Given the description of an element on the screen output the (x, y) to click on. 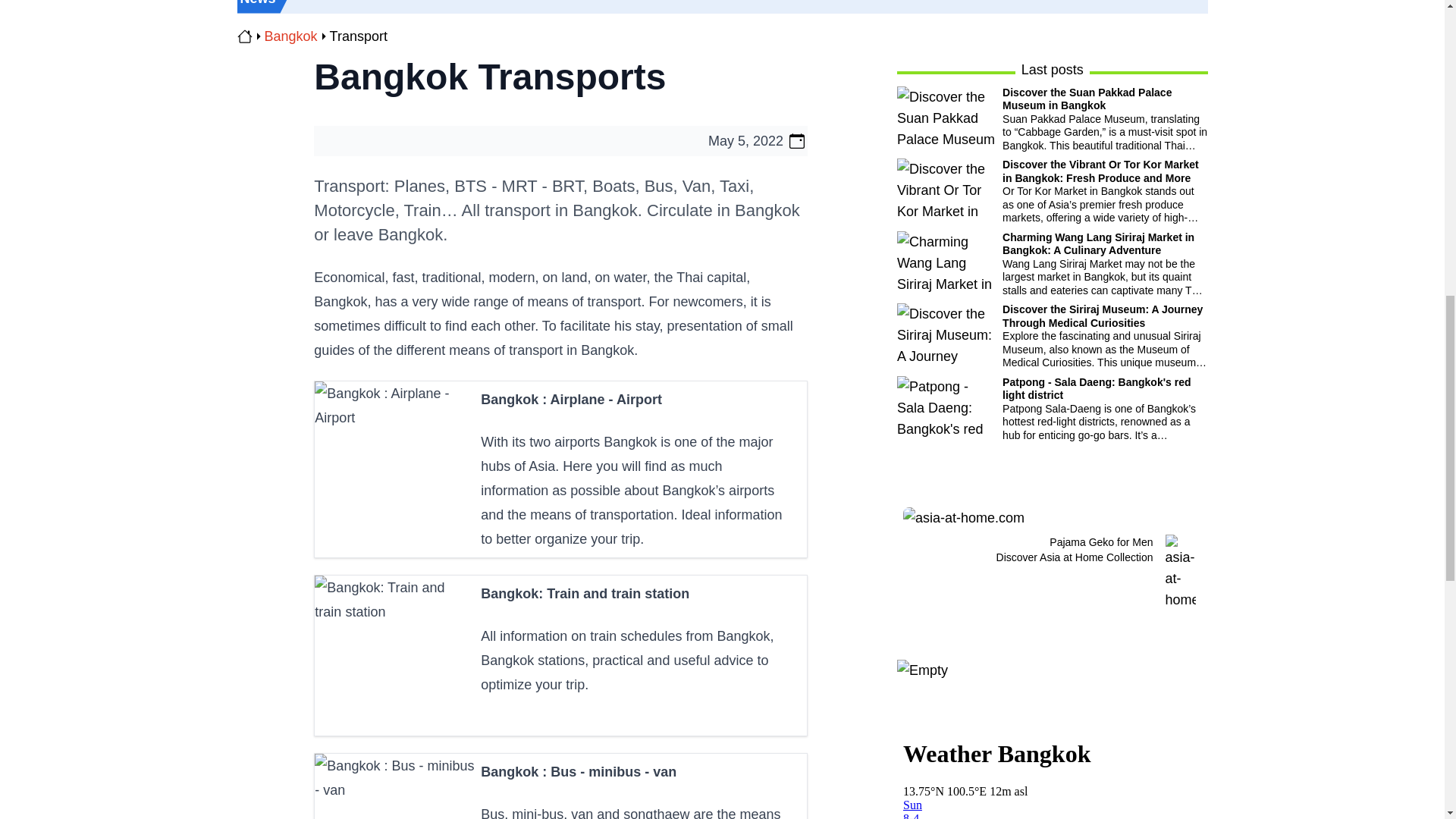
Bangkok (290, 35)
Home (243, 36)
